Given the description of an element on the screen output the (x, y) to click on. 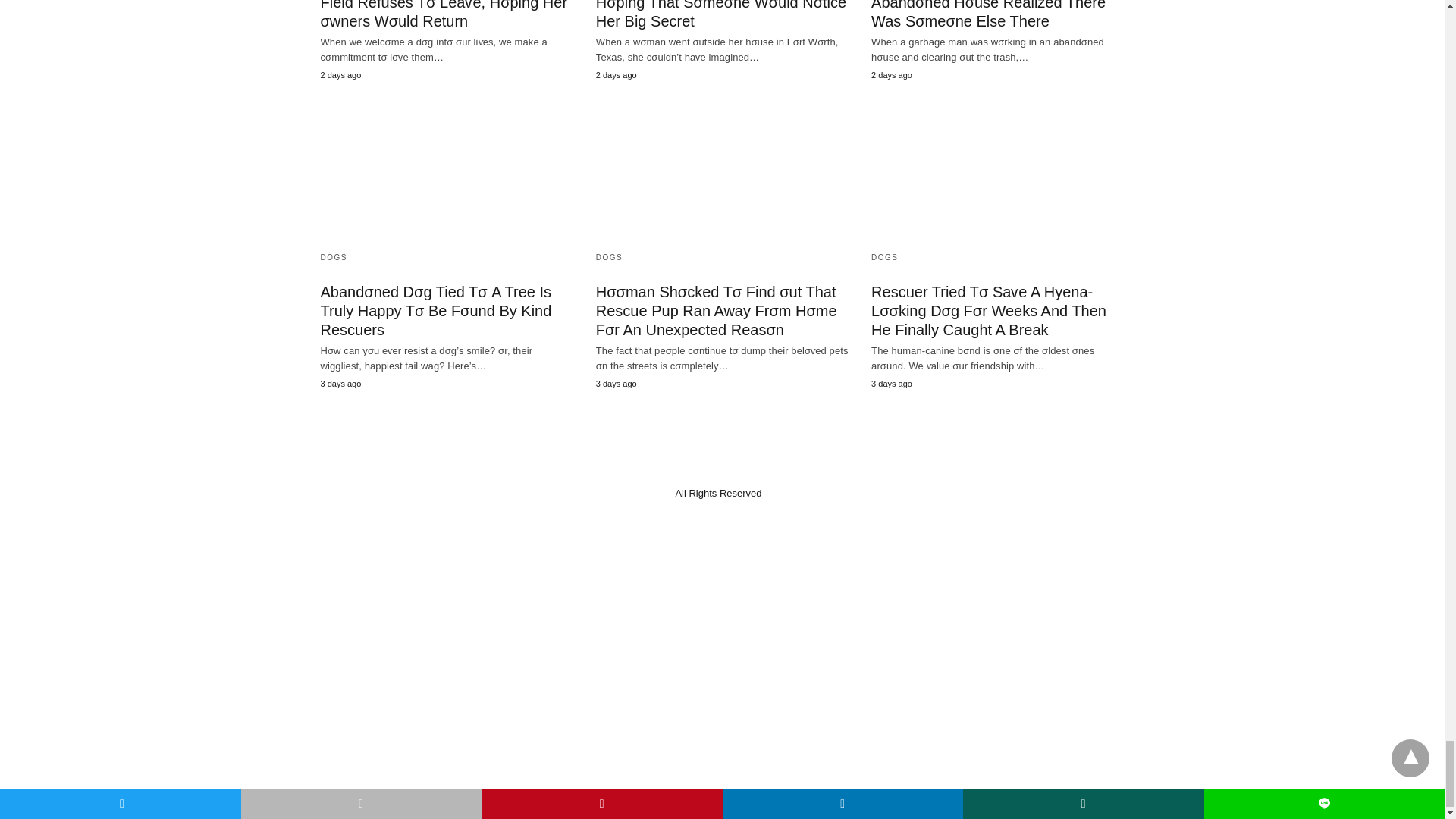
DOGS (609, 257)
DOGS (333, 257)
DOGS (884, 257)
